Given the description of an element on the screen output the (x, y) to click on. 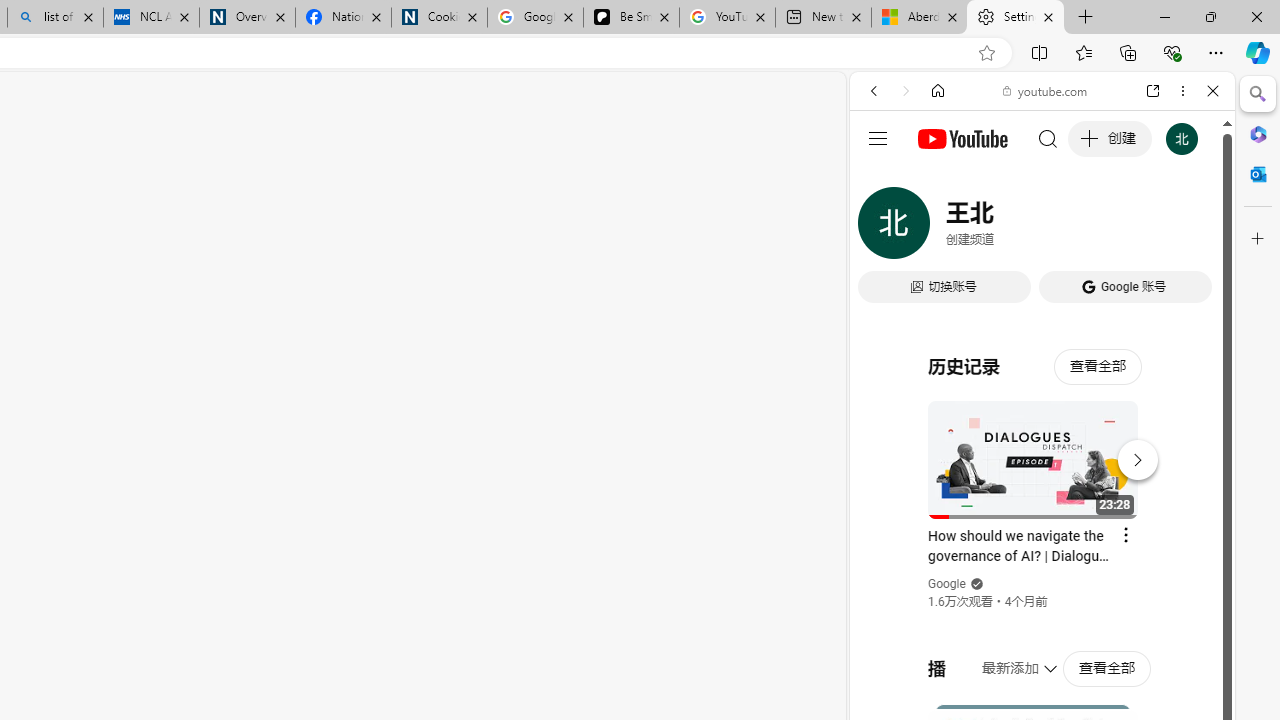
Web scope (882, 180)
Aberdeen, Hong Kong SAR hourly forecast | Microsoft Weather (918, 17)
This site scope (936, 180)
Show More Music (1164, 546)
Close Customize pane (1258, 239)
#you (1042, 445)
Class: b_serphb (1190, 229)
